Given the description of an element on the screen output the (x, y) to click on. 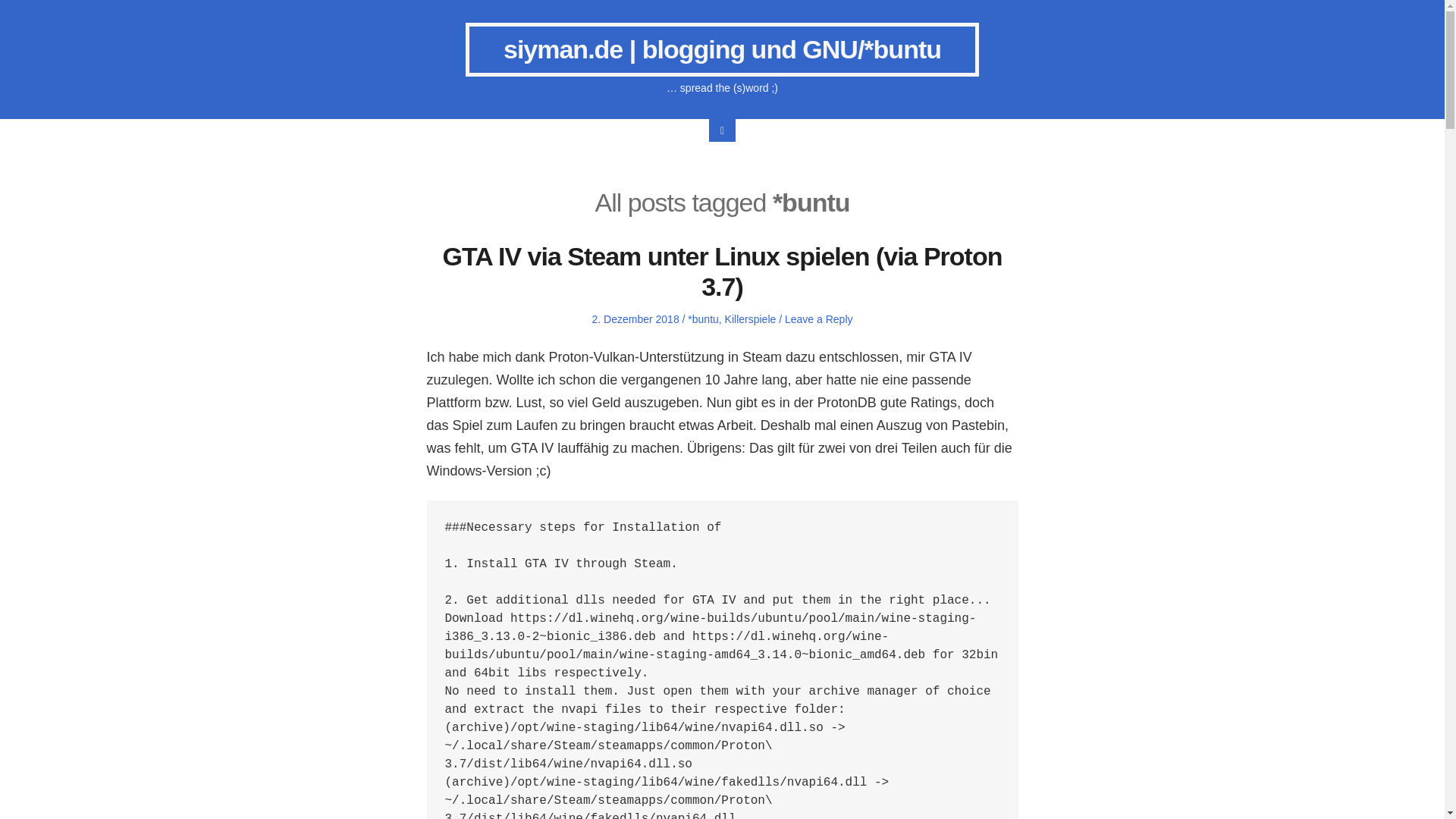
Leave a Reply (818, 318)
2. Dezember 2018 (634, 318)
Show Menu (722, 129)
Killerspiele (750, 318)
